Given the description of an element on the screen output the (x, y) to click on. 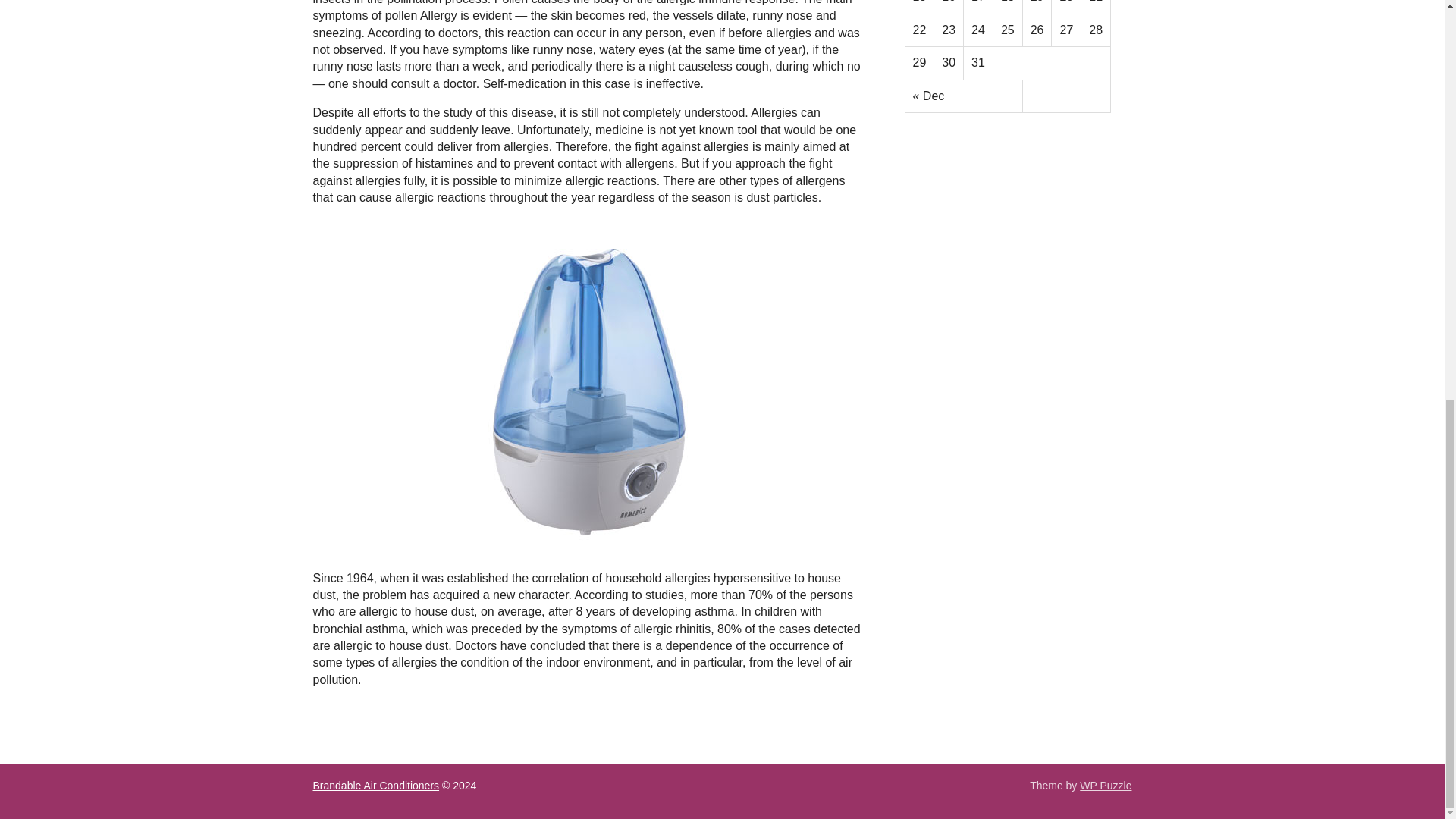
Brandable Air Conditioners (376, 785)
WP Puzzle (1105, 785)
